Given the description of an element on the screen output the (x, y) to click on. 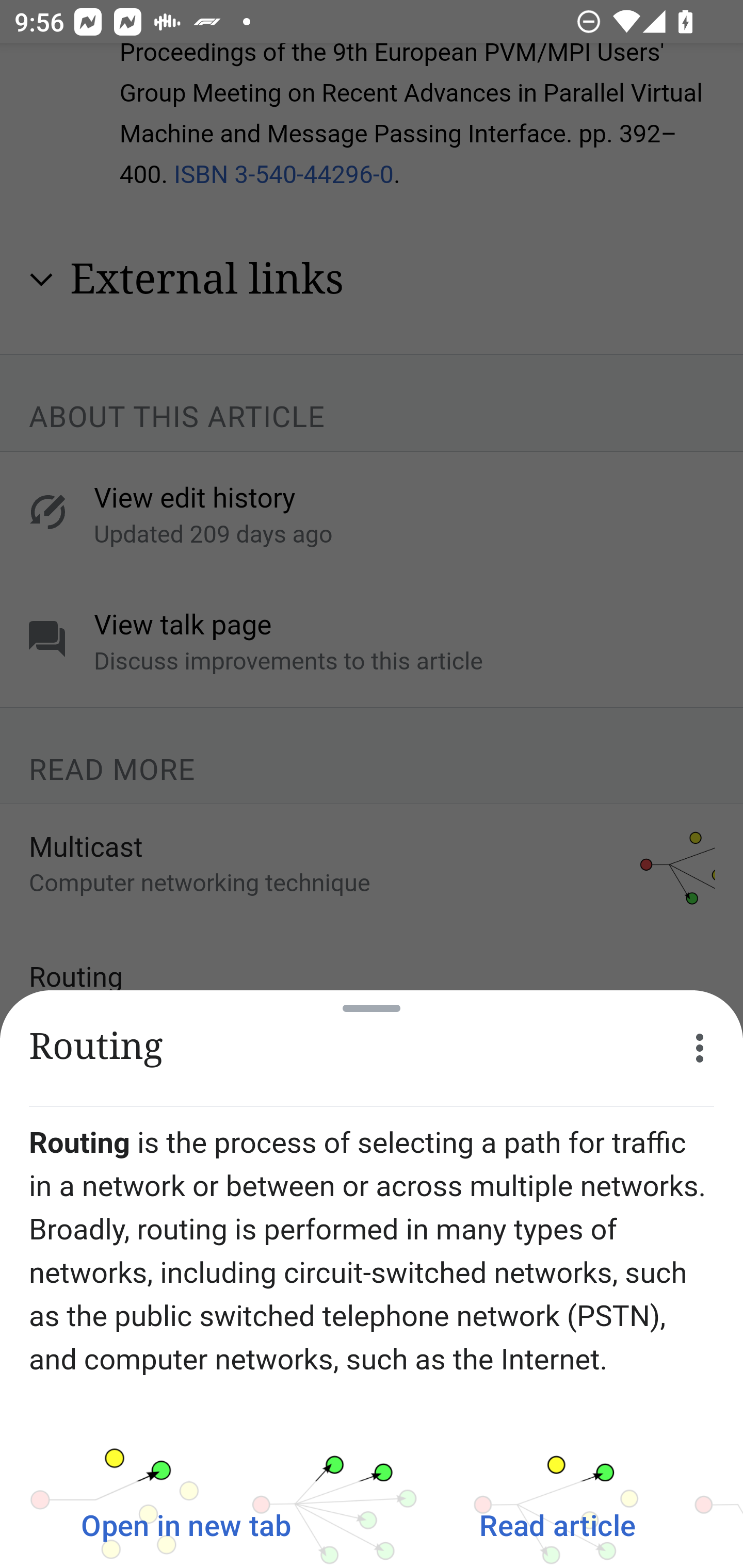
Routing More options (371, 1047)
More options (699, 1048)
Open in new tab (185, 1524)
Read article (557, 1524)
